Given the description of an element on the screen output the (x, y) to click on. 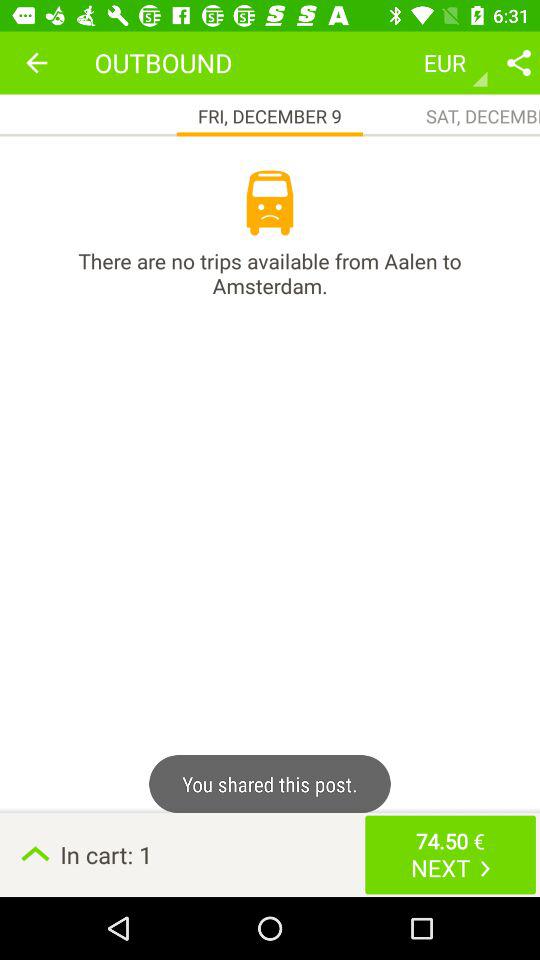
share (519, 62)
